Given the description of an element on the screen output the (x, y) to click on. 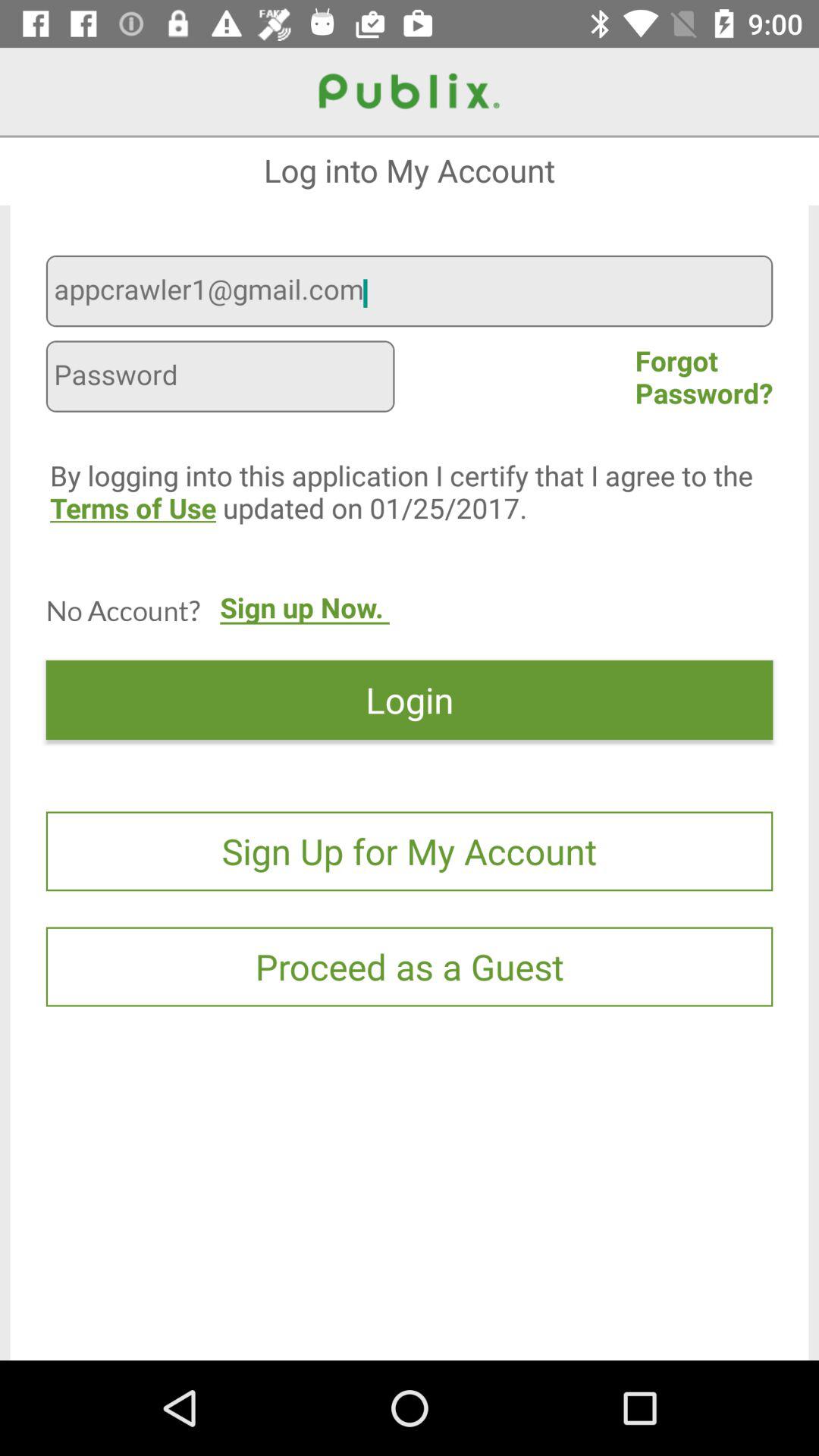
turn off item above by logging into (220, 378)
